Given the description of an element on the screen output the (x, y) to click on. 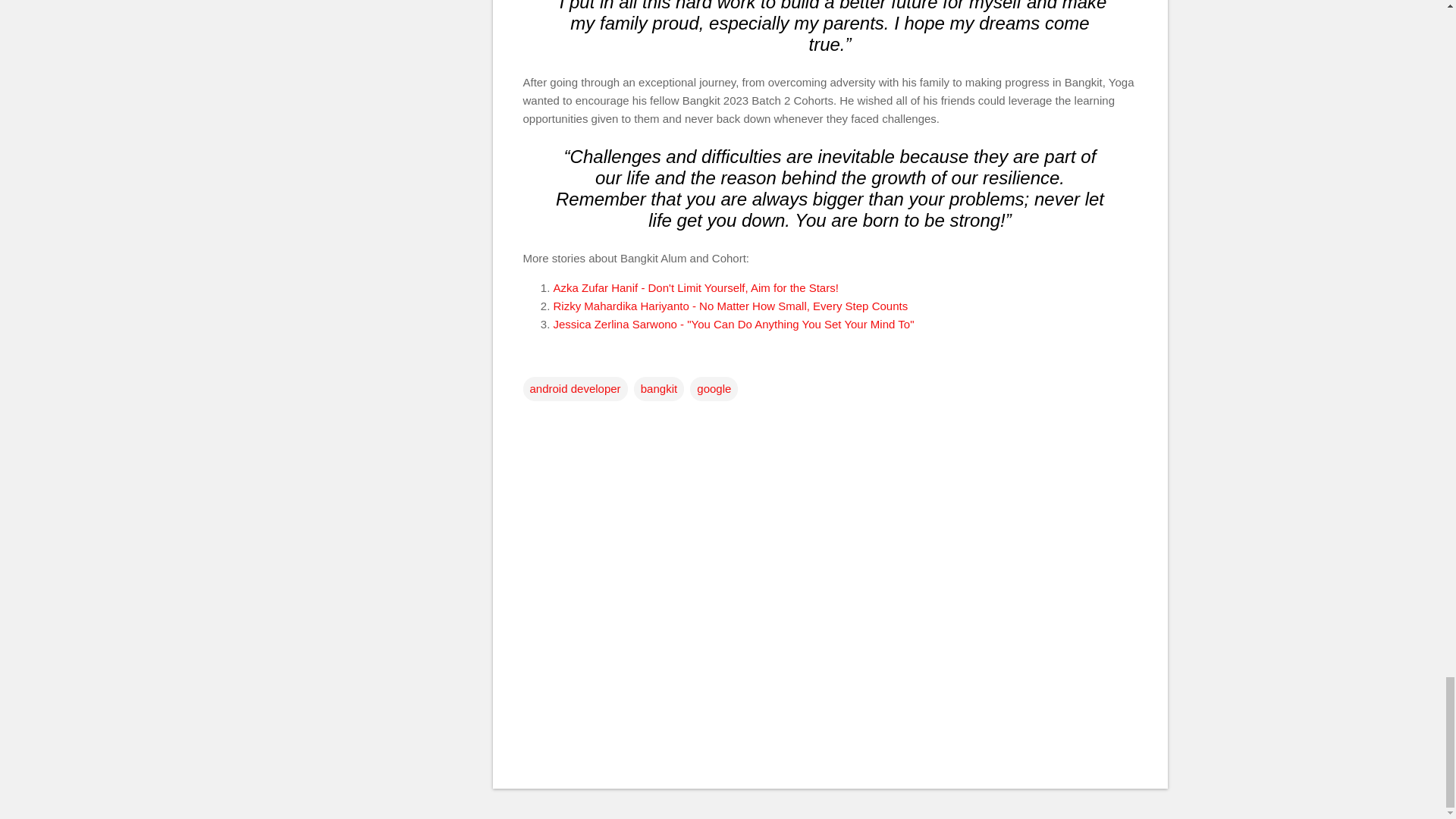
android developer (574, 388)
bangkit (658, 388)
Azka Zufar Hanif - Don't Limit Yourself, Aim for the Stars! (695, 287)
google (714, 388)
